Given the description of an element on the screen output the (x, y) to click on. 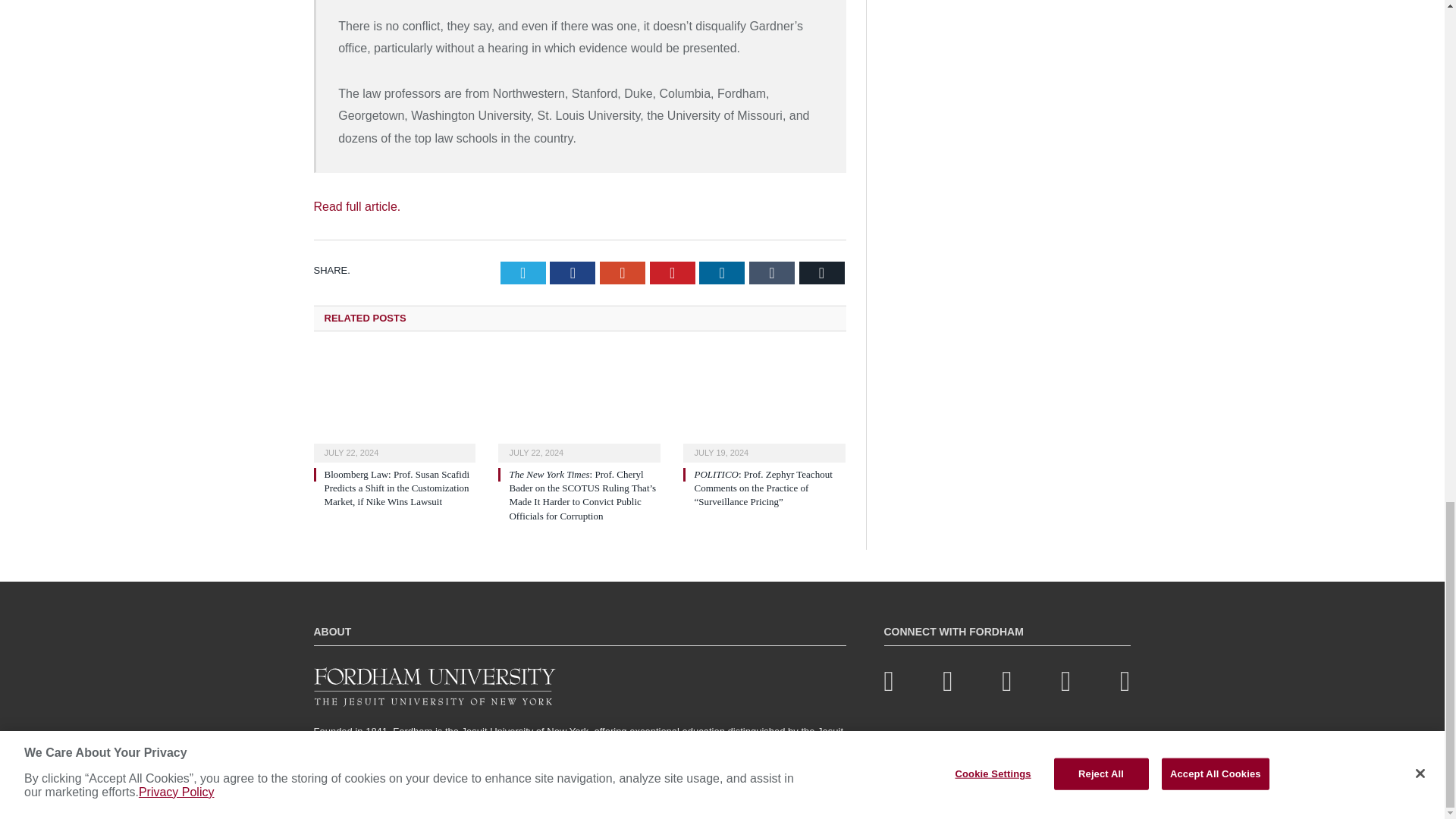
Read full article. (357, 205)
Twitter (523, 272)
Facebook (572, 272)
